Given the description of an element on the screen output the (x, y) to click on. 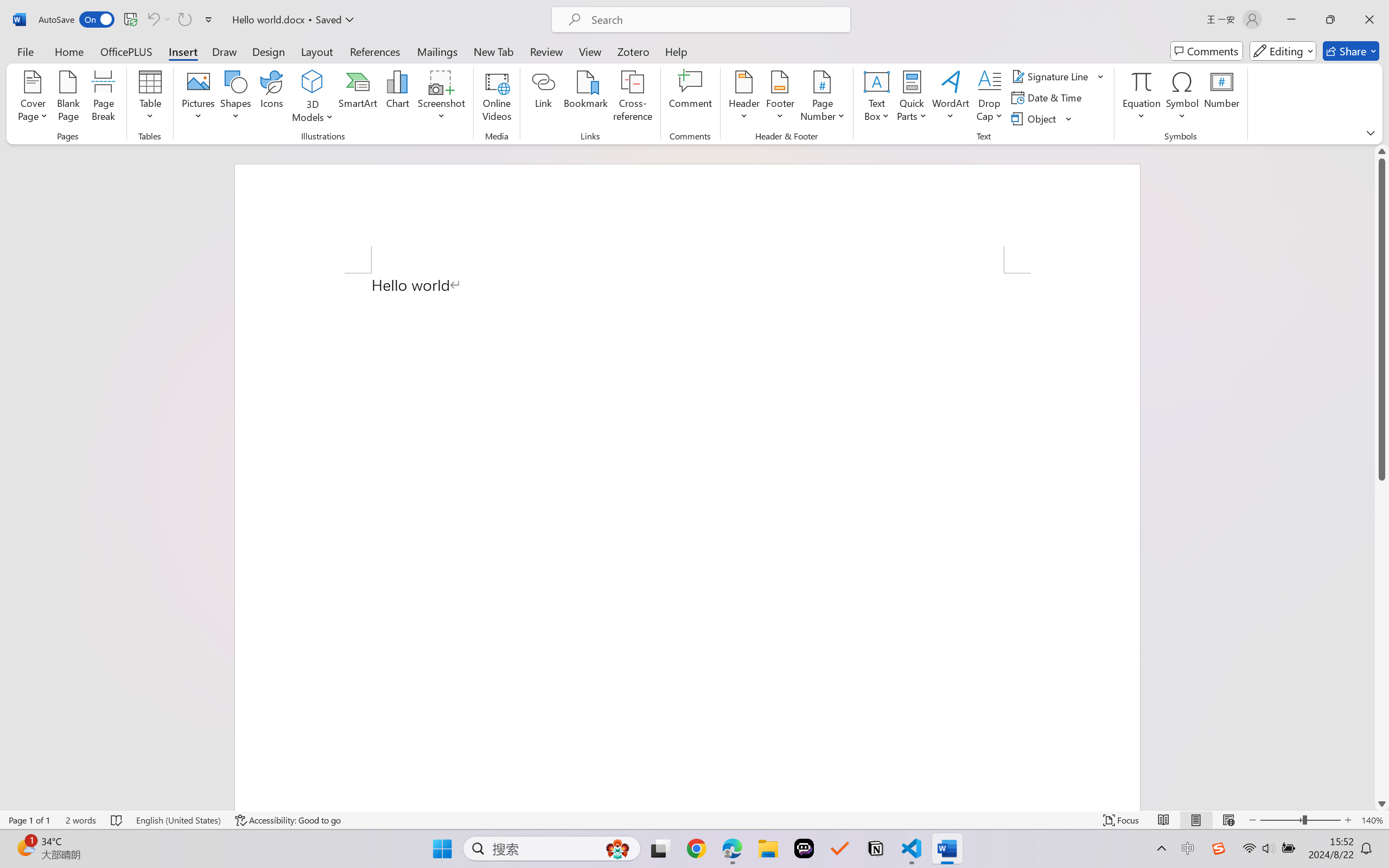
Cover Page (33, 97)
AutoSave (76, 19)
Can't Repeat (184, 19)
Minimize (1291, 19)
Drop Cap (989, 97)
Mailings (437, 51)
Class: Image (1218, 847)
Equation (1141, 97)
Page down (1382, 638)
Blank Page (67, 97)
Comments (1206, 50)
Page Number (822, 97)
Page Number Page 1 of 1 (29, 819)
